Given the description of an element on the screen output the (x, y) to click on. 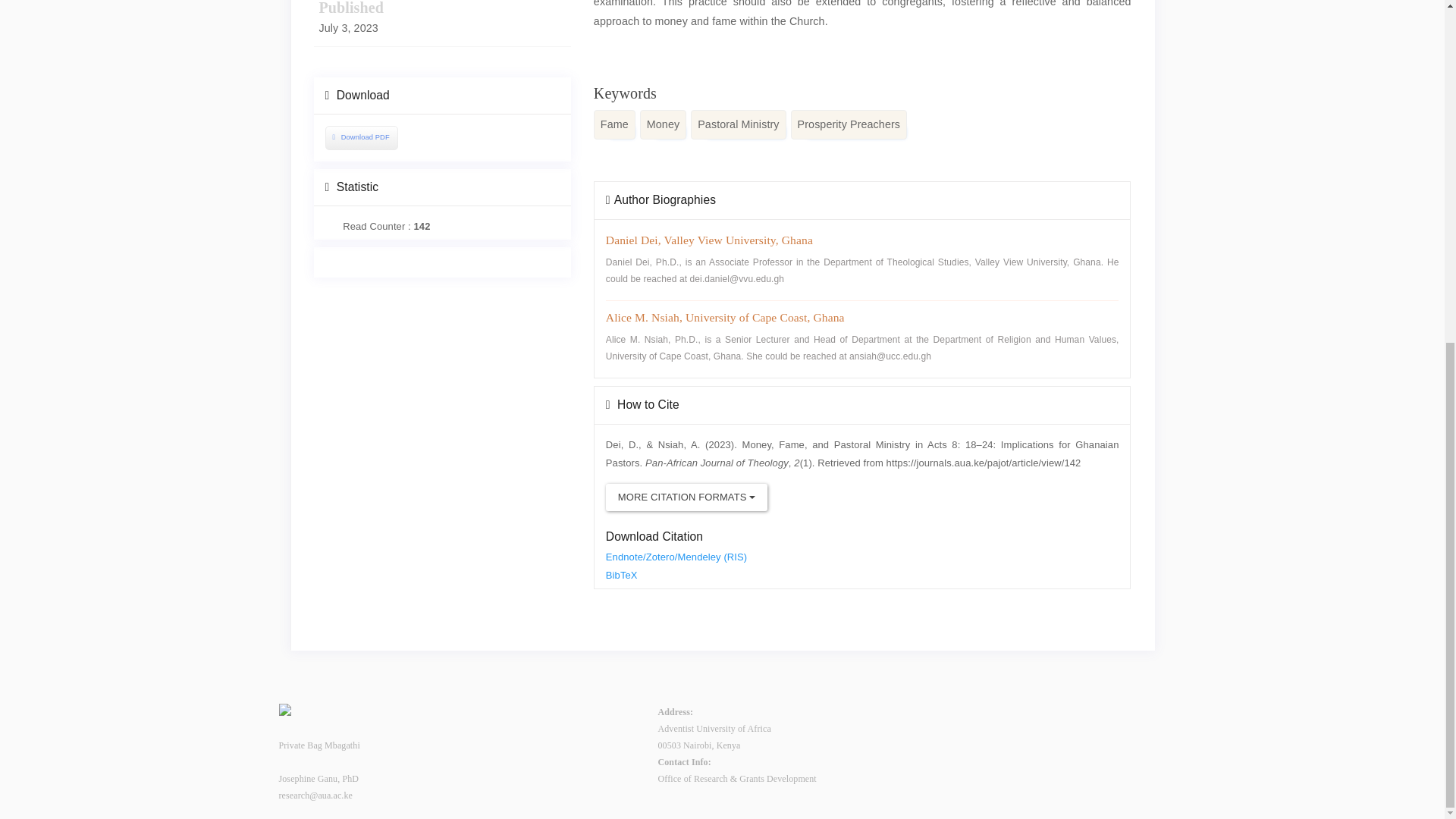
Download on article page (359, 136)
MORE CITATION FORMATS (686, 497)
Download PDF (360, 137)
